Given the description of an element on the screen output the (x, y) to click on. 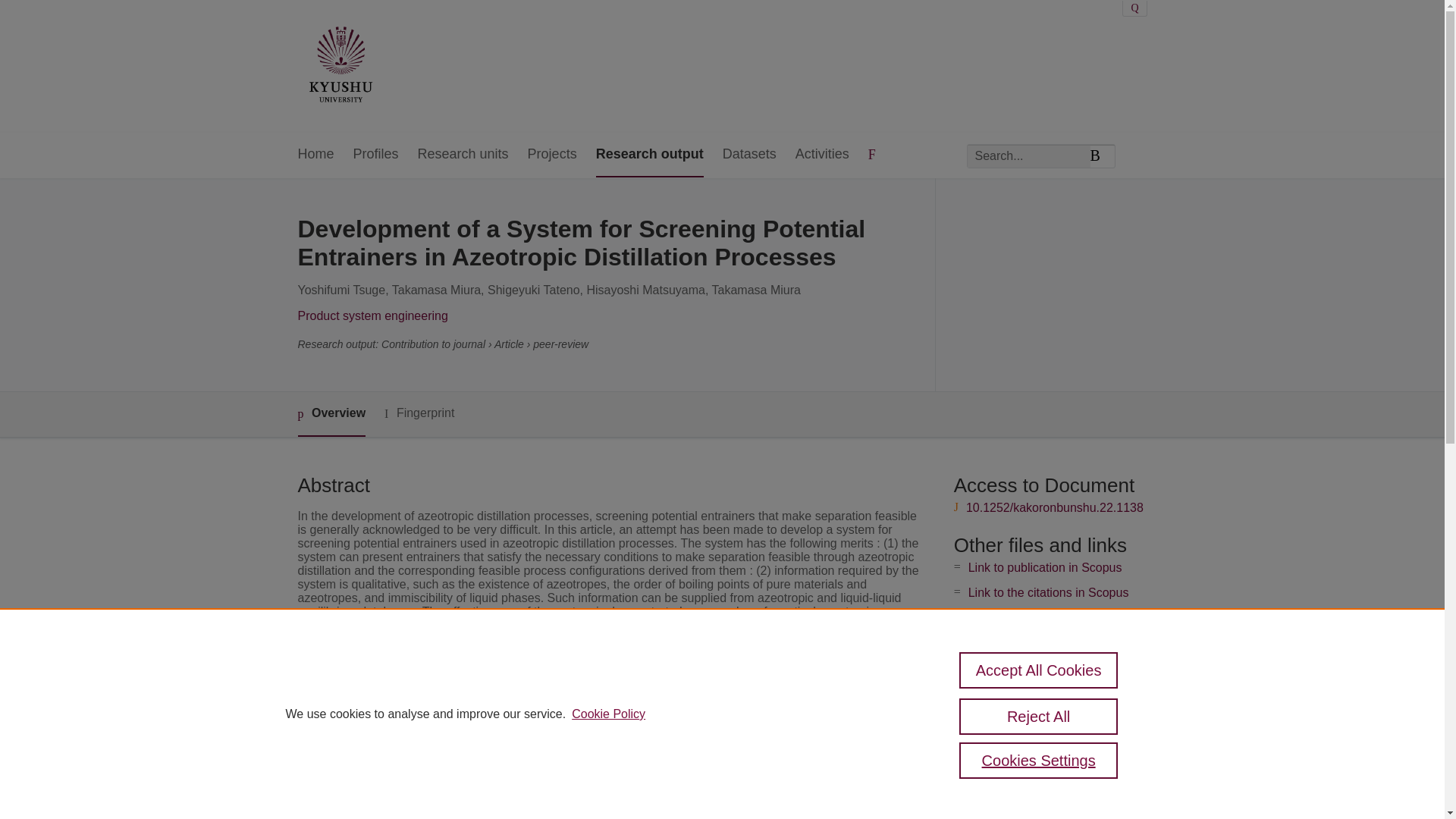
Datasets (749, 154)
Product system engineering (371, 315)
Research units (462, 154)
Projects (551, 154)
Profiles (375, 154)
Overview (331, 414)
Link to the citations in Scopus (1048, 592)
Link to publication in Scopus (1045, 567)
Fingerprint (419, 413)
Activities (821, 154)
kagaku kogaku ronbunshu (580, 716)
Research output (649, 154)
